Given the description of an element on the screen output the (x, y) to click on. 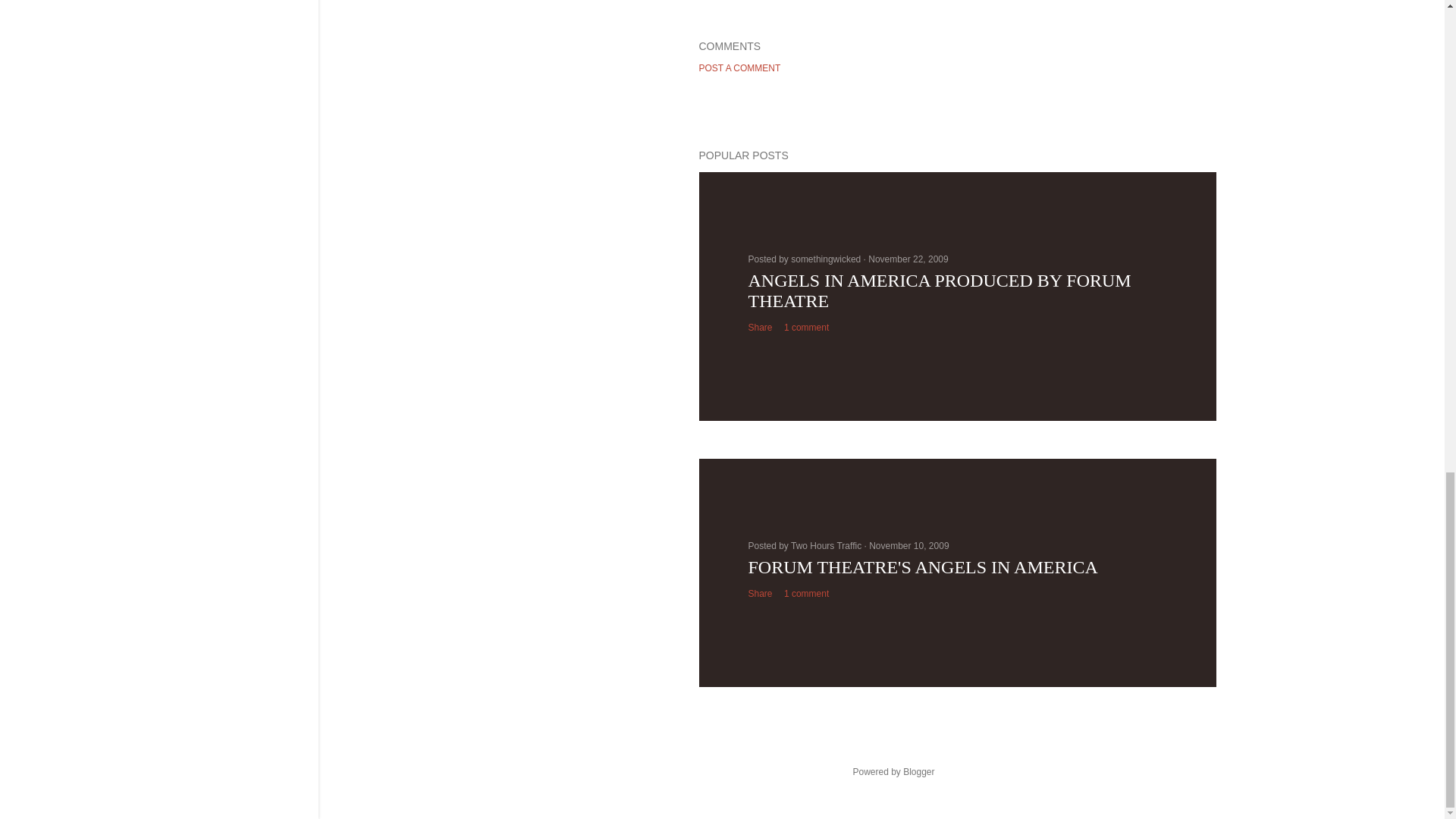
somethingwicked (826, 258)
1 comment (806, 593)
ANGELS IN AMERICA PRODUCED BY FORUM THEATRE (939, 291)
POST A COMMENT (739, 68)
Share (759, 327)
November 22, 2009 (907, 258)
author profile (826, 258)
November 10, 2009 (909, 545)
FORUM THEATRE'S ANGELS IN AMERICA (922, 567)
Two Hours Traffic (826, 545)
Share (759, 593)
1 comment (806, 327)
